Given the description of an element on the screen output the (x, y) to click on. 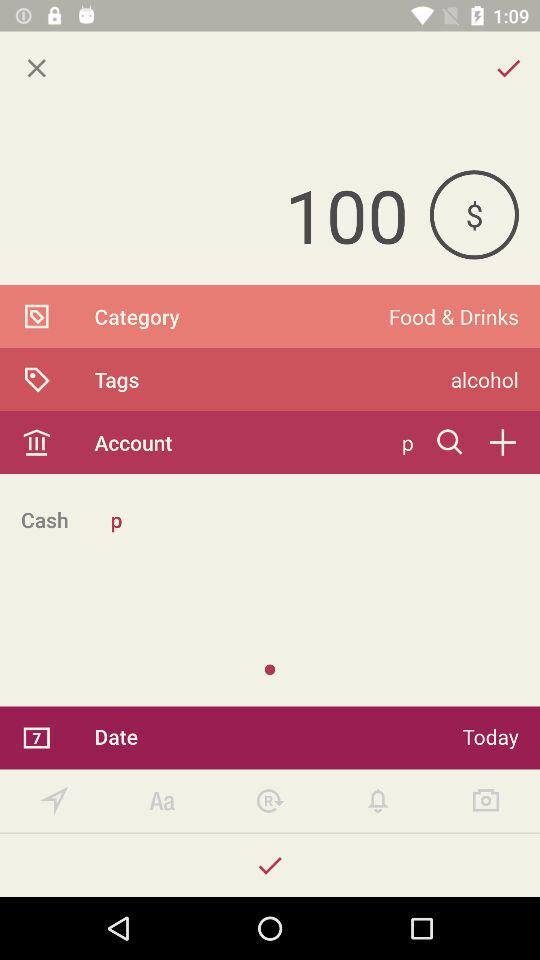
accept (270, 865)
